Given the description of an element on the screen output the (x, y) to click on. 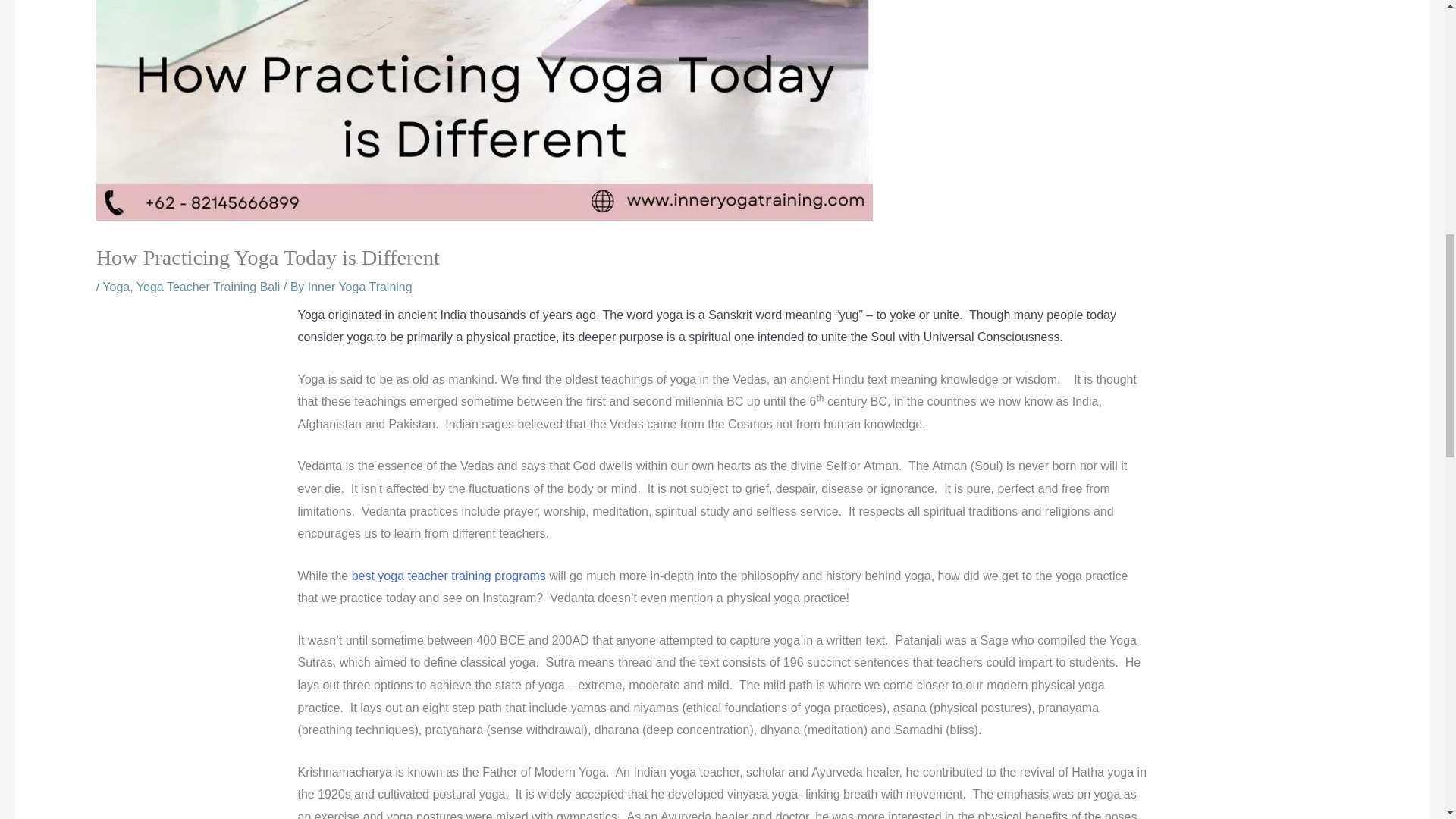
Yoga Teacher Training Bali (207, 286)
View all posts by Inner Yoga Training (359, 286)
best yoga teacher training programs (449, 575)
Yoga (115, 286)
Inner Yoga Training (359, 286)
